Given the description of an element on the screen output the (x, y) to click on. 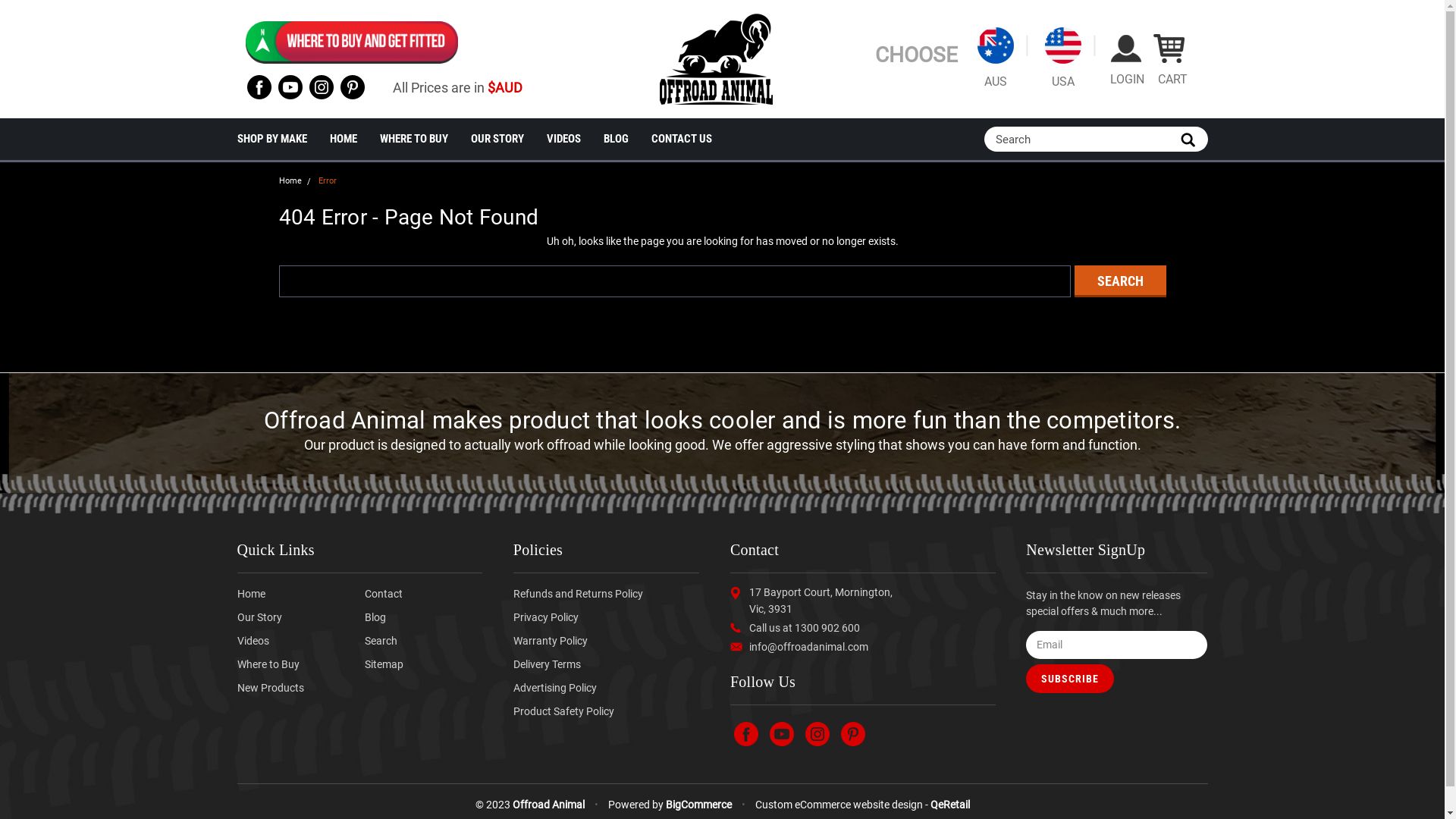
Subscribe Element type: text (1069, 678)
New Products Element type: text (269, 687)
USA Element type: text (1062, 59)
info@offroadanimal.com Element type: text (808, 646)
Sitemap Element type: text (383, 663)
Home Element type: text (250, 593)
AUS Element type: text (994, 59)
SHOP BY MAKE Element type: text (282, 138)
CART Element type: text (1169, 59)
Offroad Animal Element type: hover (715, 58)
Videos Element type: text (252, 640)
LOGIN Element type: text (1125, 59)
Refunds and Returns Policy Element type: text (578, 593)
CONTACT US Element type: text (692, 138)
Warranty Policy Element type: text (550, 640)
Search Element type: text (1119, 281)
Privacy Policy Element type: text (545, 616)
Search Element type: text (380, 640)
BLOG Element type: text (627, 138)
Advertising Policy Element type: text (554, 687)
Delivery Terms Element type: text (546, 663)
VIDEOS Element type: text (574, 138)
Our Story Element type: text (258, 616)
Custom eCommerce website design Element type: text (838, 804)
Blog Element type: text (374, 616)
HOME Element type: text (354, 138)
Contact Element type: text (383, 593)
BigCommerce Element type: text (698, 804)
Error Element type: text (327, 180)
Where to Buy Element type: text (267, 663)
Home Element type: text (290, 180)
Product Safety Policy Element type: text (563, 710)
WHERE TO BUY Element type: text (424, 138)
OUR STORY Element type: text (508, 138)
